Given the description of an element on the screen output the (x, y) to click on. 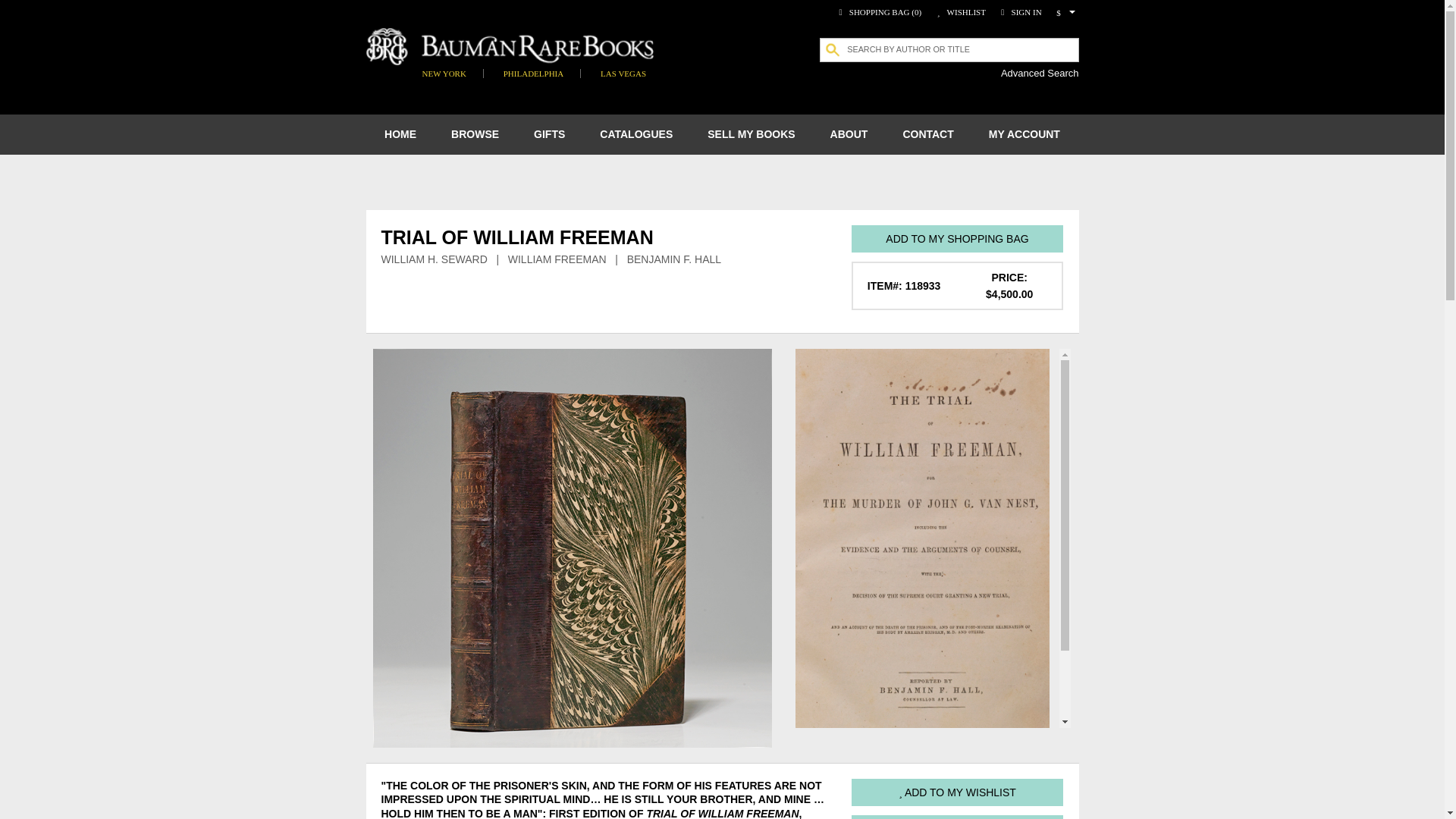
Quick Search (33, 9)
NEW YORK (443, 72)
Advanced Search (1039, 72)
LAS VEGAS (622, 72)
ABOUT (848, 134)
BROWSE (474, 134)
SIGN IN (1018, 11)
GIFTS (549, 134)
CATALOGUES (636, 134)
HOME (399, 134)
